Given the description of an element on the screen output the (x, y) to click on. 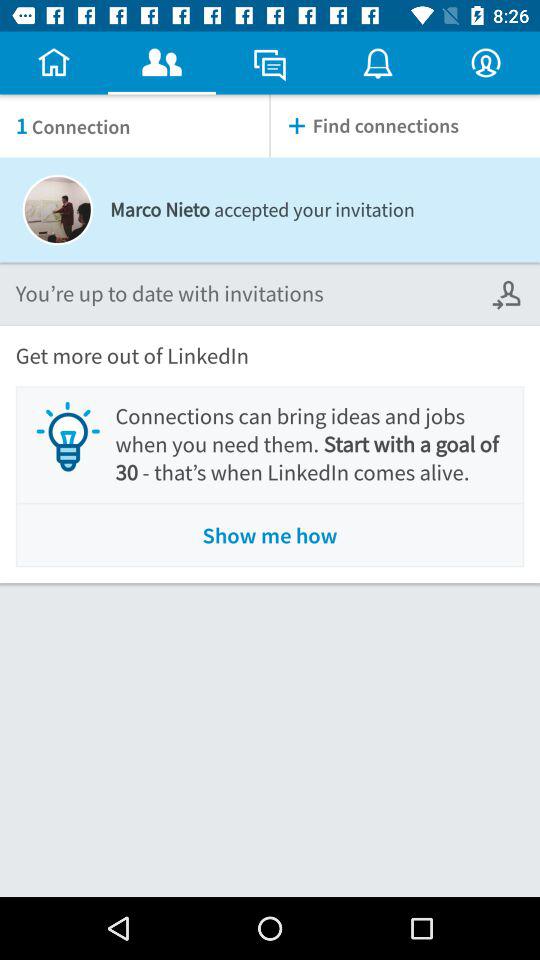
tap the show me how icon (269, 535)
